Given the description of an element on the screen output the (x, y) to click on. 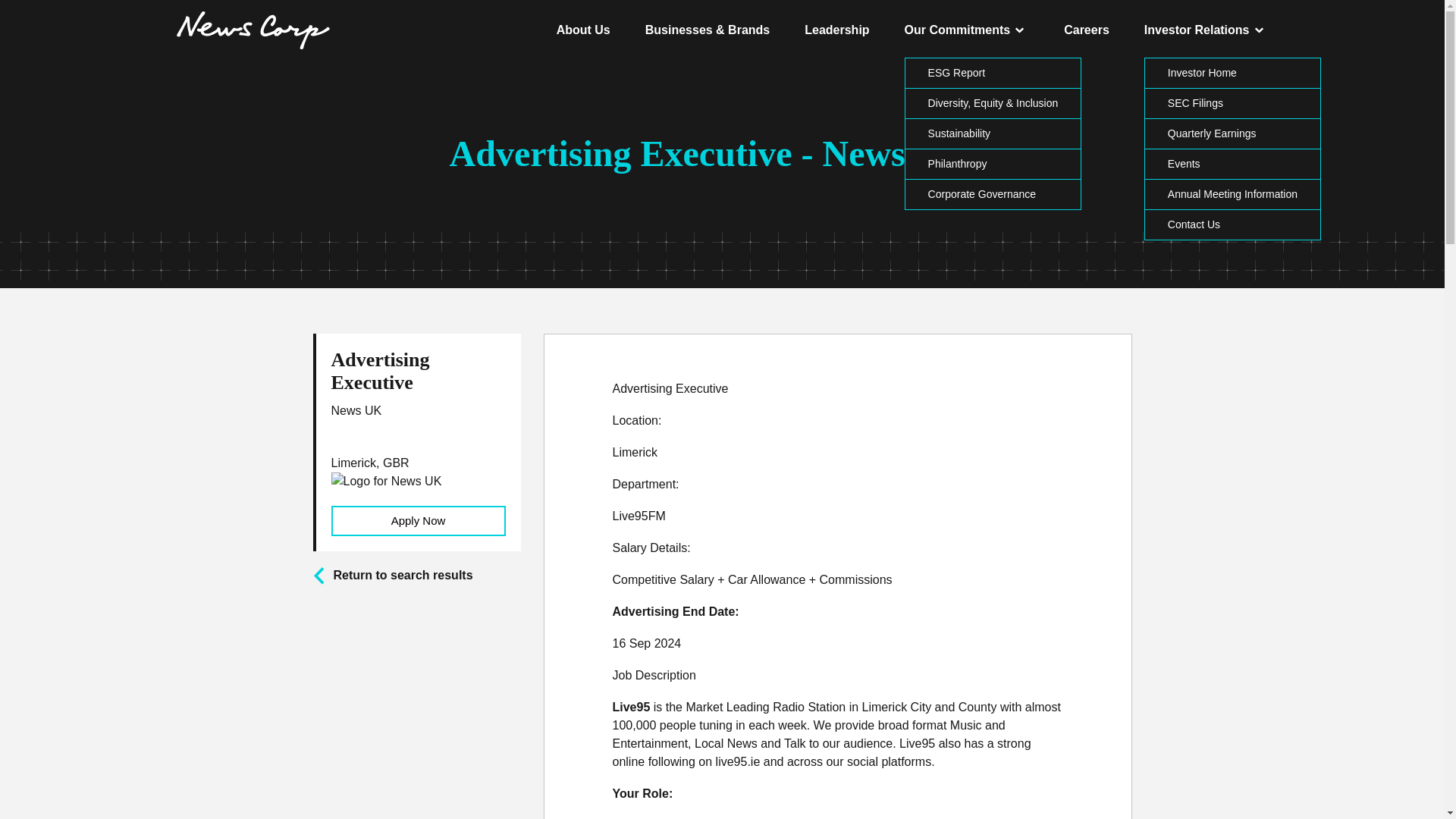
News UK (360, 428)
Sustainability (959, 133)
Quarterly Earnings (1211, 133)
SEC Filings (1195, 102)
About Us (583, 29)
Apply Now (417, 521)
Events (1183, 163)
Annual Meeting Information (1232, 193)
Return to search results (392, 575)
Corporate Governance (981, 193)
